Given the description of an element on the screen output the (x, y) to click on. 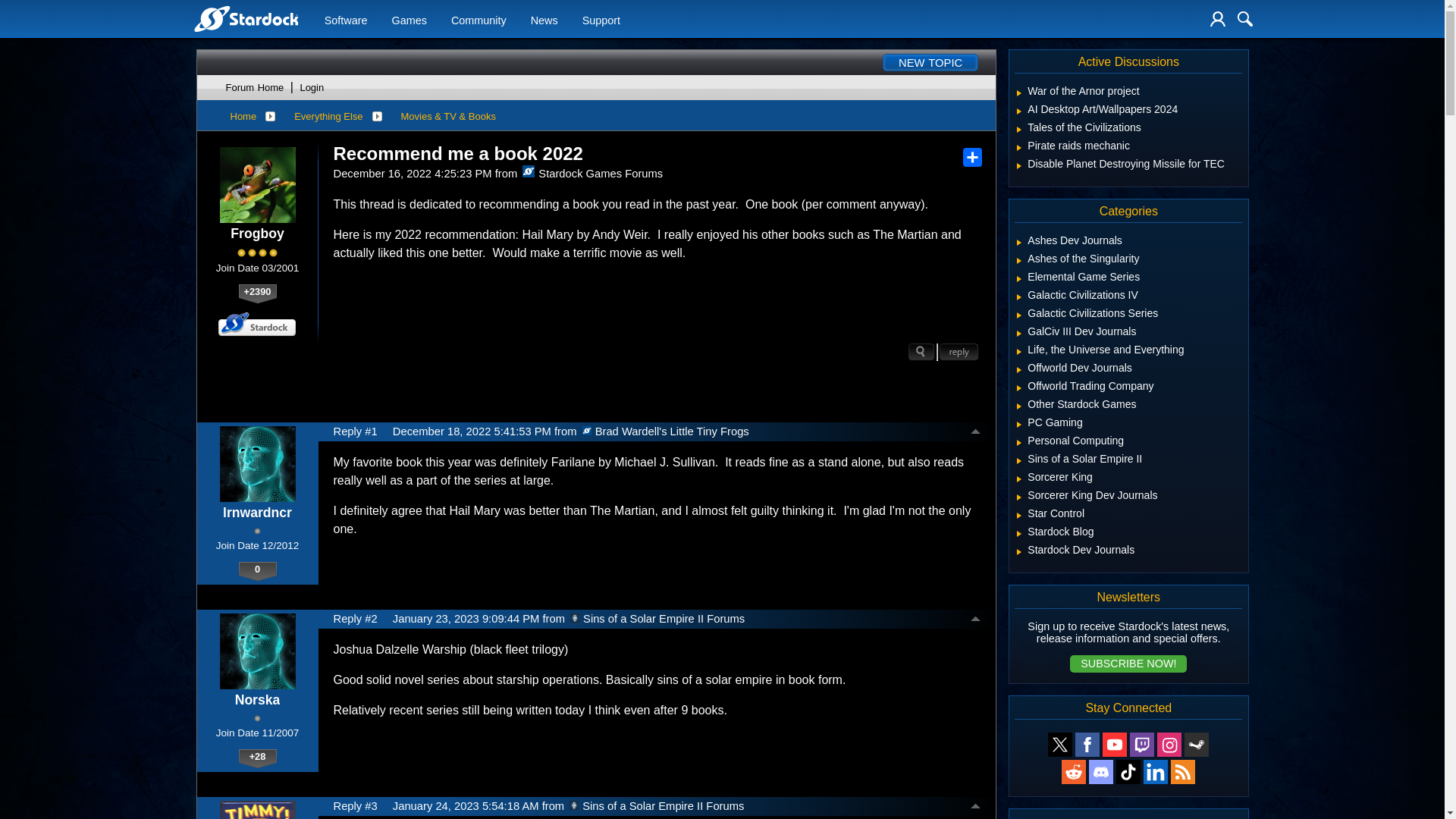
Search Stardock (1244, 17)
Brad Wardell's Little Tiny Frogs (586, 429)
Click user name to view more options. (256, 233)
Rank: 1 (256, 530)
View lrnwardncr's Karma (257, 571)
Click user name to view more options. (257, 512)
Stardock Logo (244, 18)
Login (1217, 17)
View Frogboy's Karma (257, 293)
Search this post (921, 352)
Stardock Games Forums (528, 171)
Recommend me a book 2022 (458, 153)
Reply to this post (958, 352)
Rank: 9 (257, 252)
Scroll to Top (975, 433)
